Given the description of an element on the screen output the (x, y) to click on. 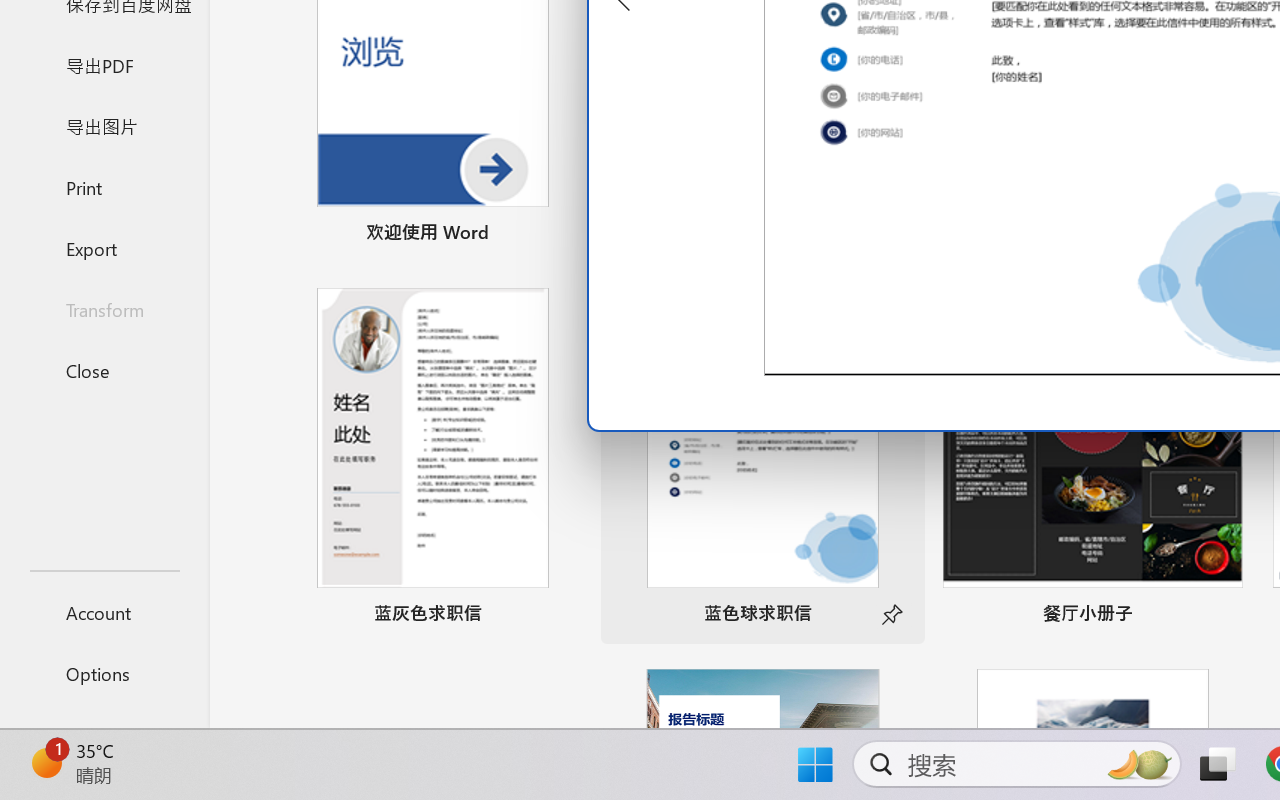
Print (104, 186)
Account (104, 612)
Export (104, 248)
Pin to list (1223, 616)
Transform (104, 309)
